Given the description of an element on the screen output the (x, y) to click on. 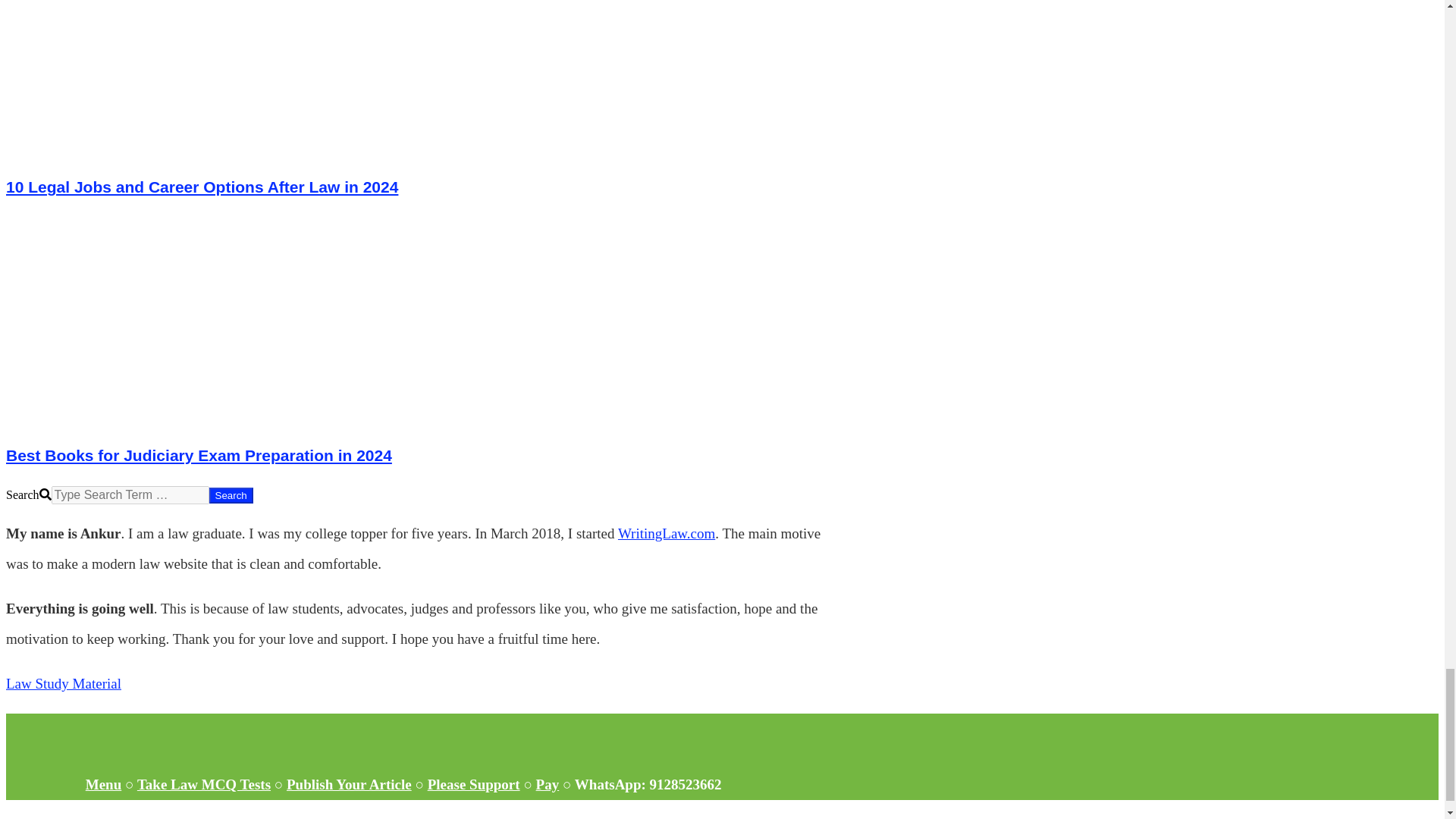
Search (231, 495)
